Given the description of an element on the screen output the (x, y) to click on. 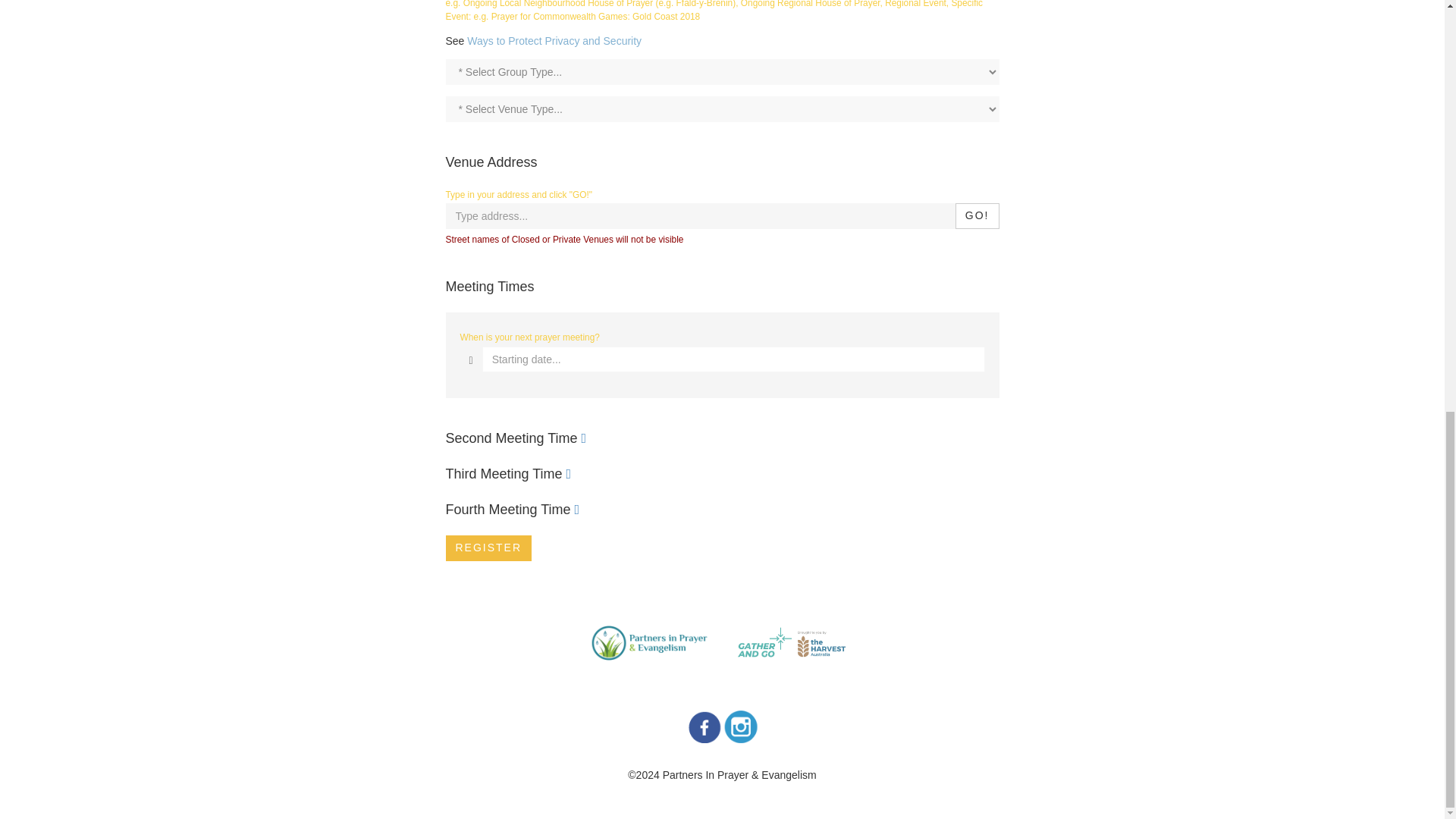
Register (488, 548)
GO! (976, 216)
Ways to Protect Privacy and Security (554, 40)
Register (488, 548)
